Given the description of an element on the screen output the (x, y) to click on. 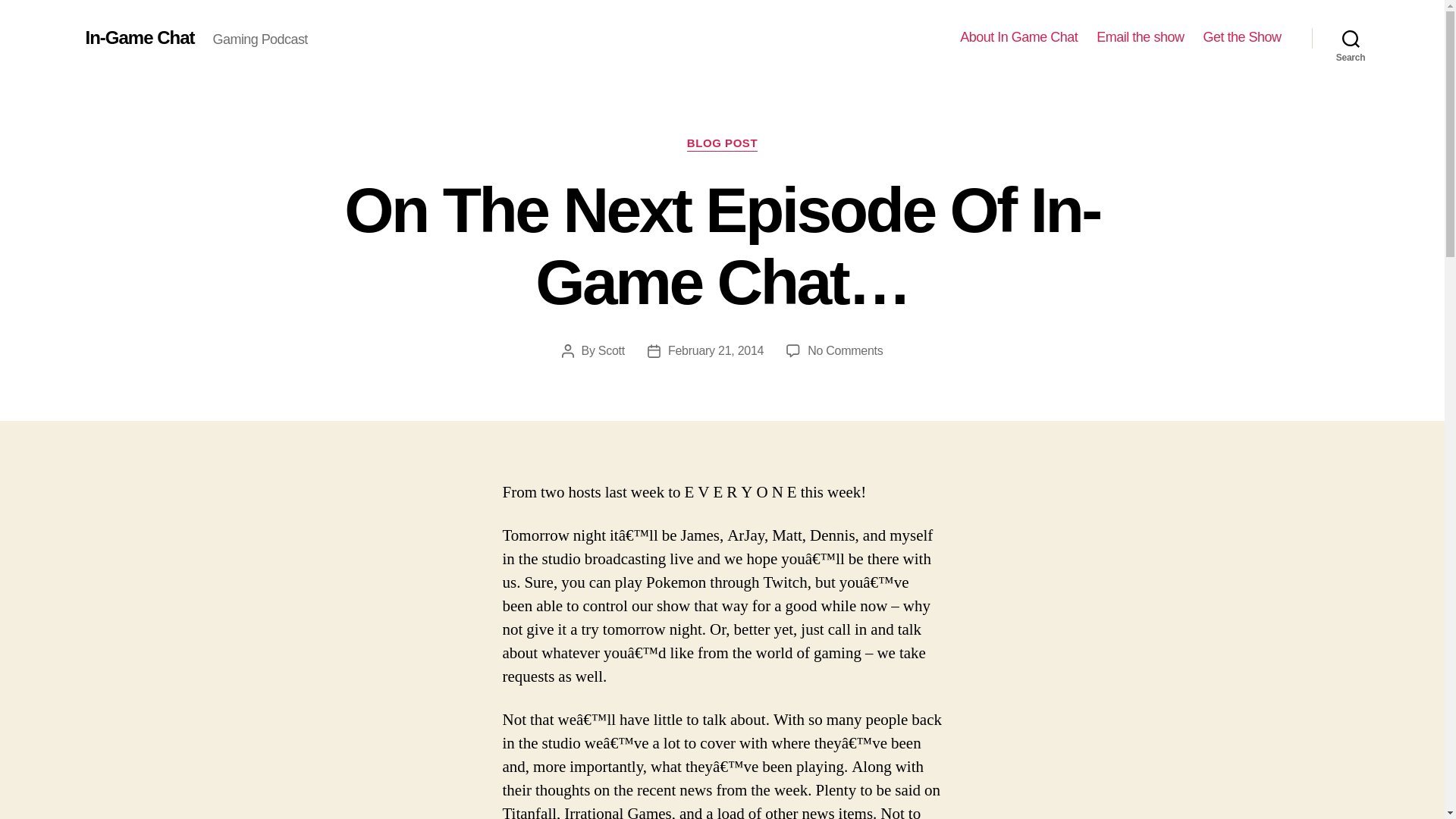
Get the Show (1241, 37)
BLOG POST (722, 143)
About In Game Chat (1018, 37)
February 21, 2014 (715, 350)
In-Game Chat (138, 37)
Email the show (1139, 37)
Search (1350, 37)
Scott (611, 350)
